Given the description of an element on the screen output the (x, y) to click on. 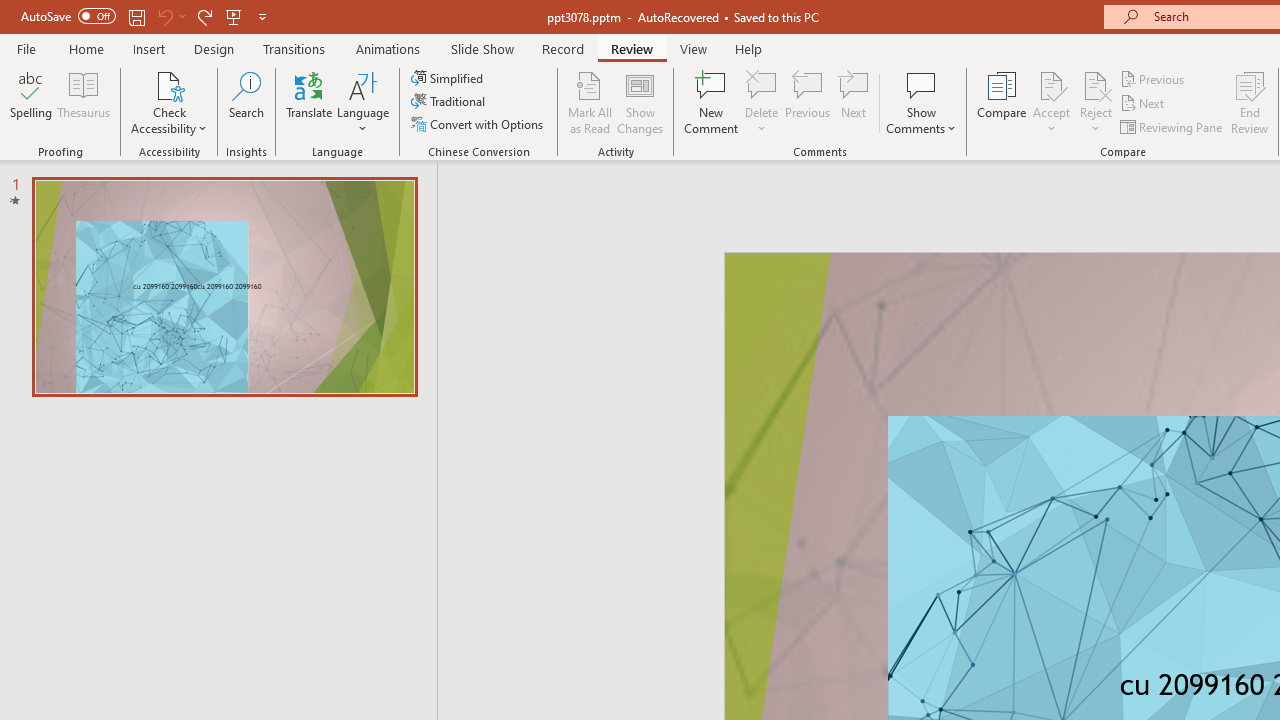
Reject (1096, 102)
Thesaurus... (83, 102)
Simplified (449, 78)
Reviewing Pane (1172, 126)
End Review (1249, 102)
Accept Change (1051, 84)
